Given the description of an element on the screen output the (x, y) to click on. 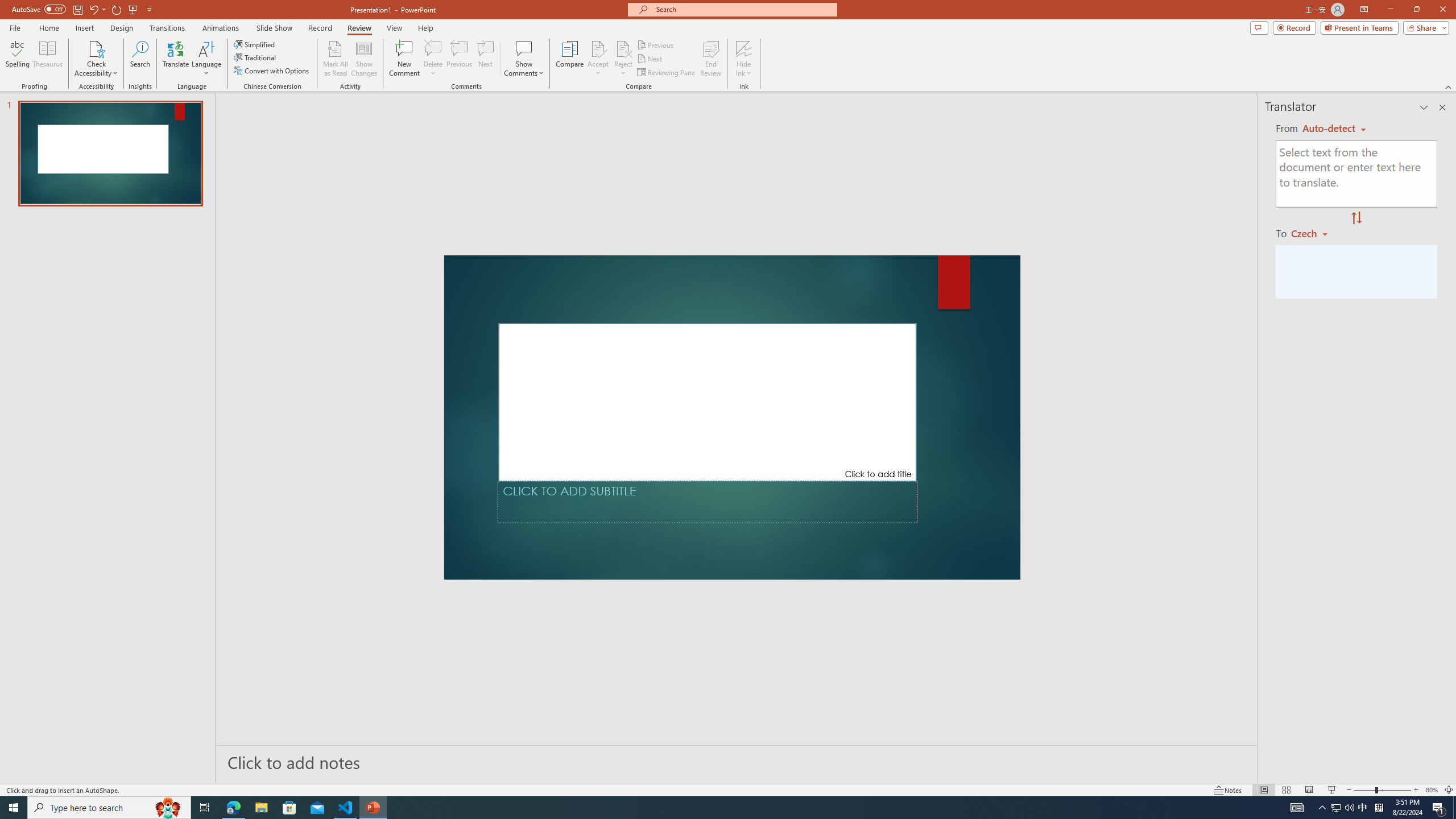
Thesaurus... (47, 58)
Convert with Options... (272, 69)
Zoom 80% (1431, 790)
Spelling... (17, 58)
